Given the description of an element on the screen output the (x, y) to click on. 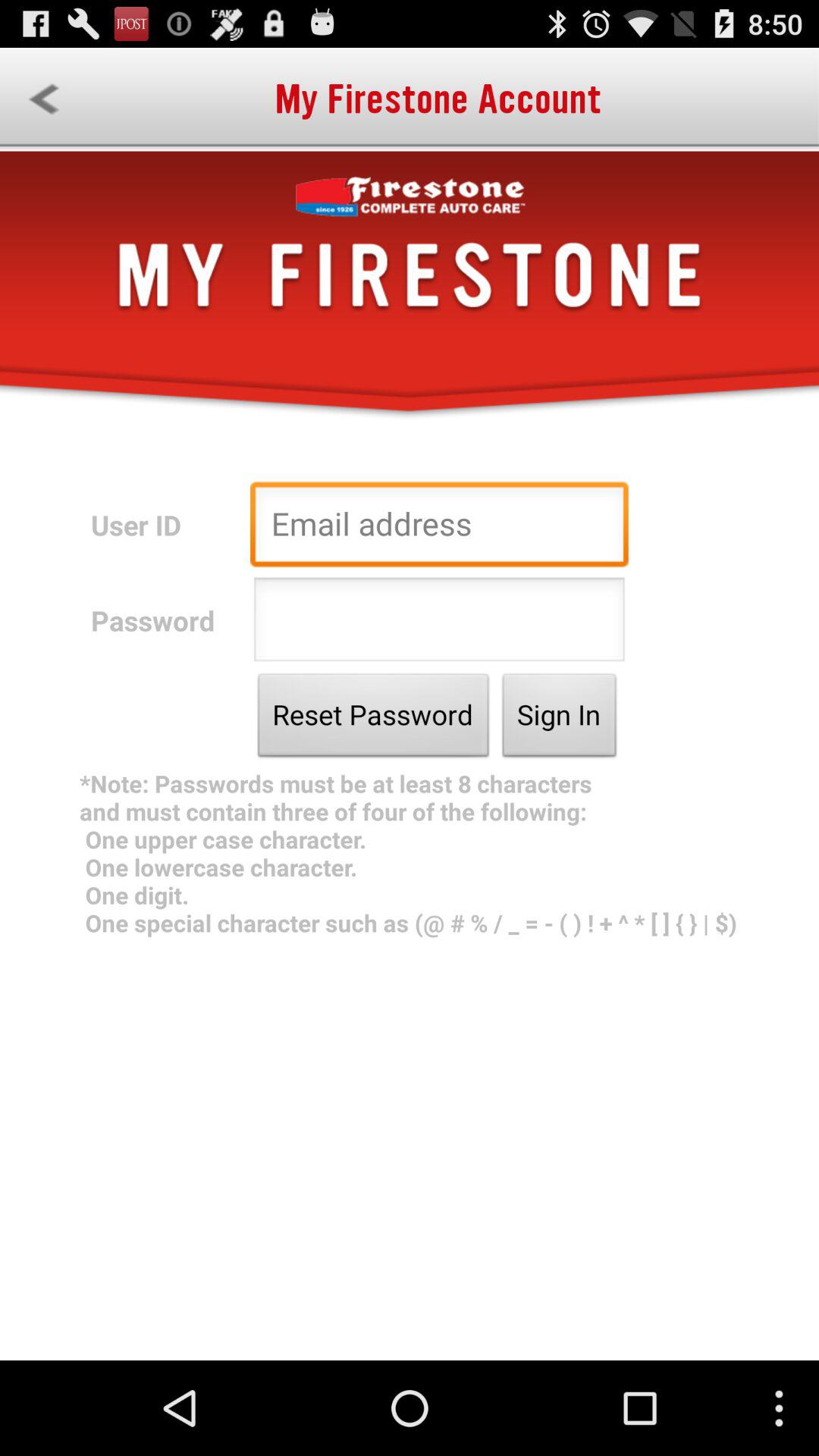
email address (439, 528)
